Given the description of an element on the screen output the (x, y) to click on. 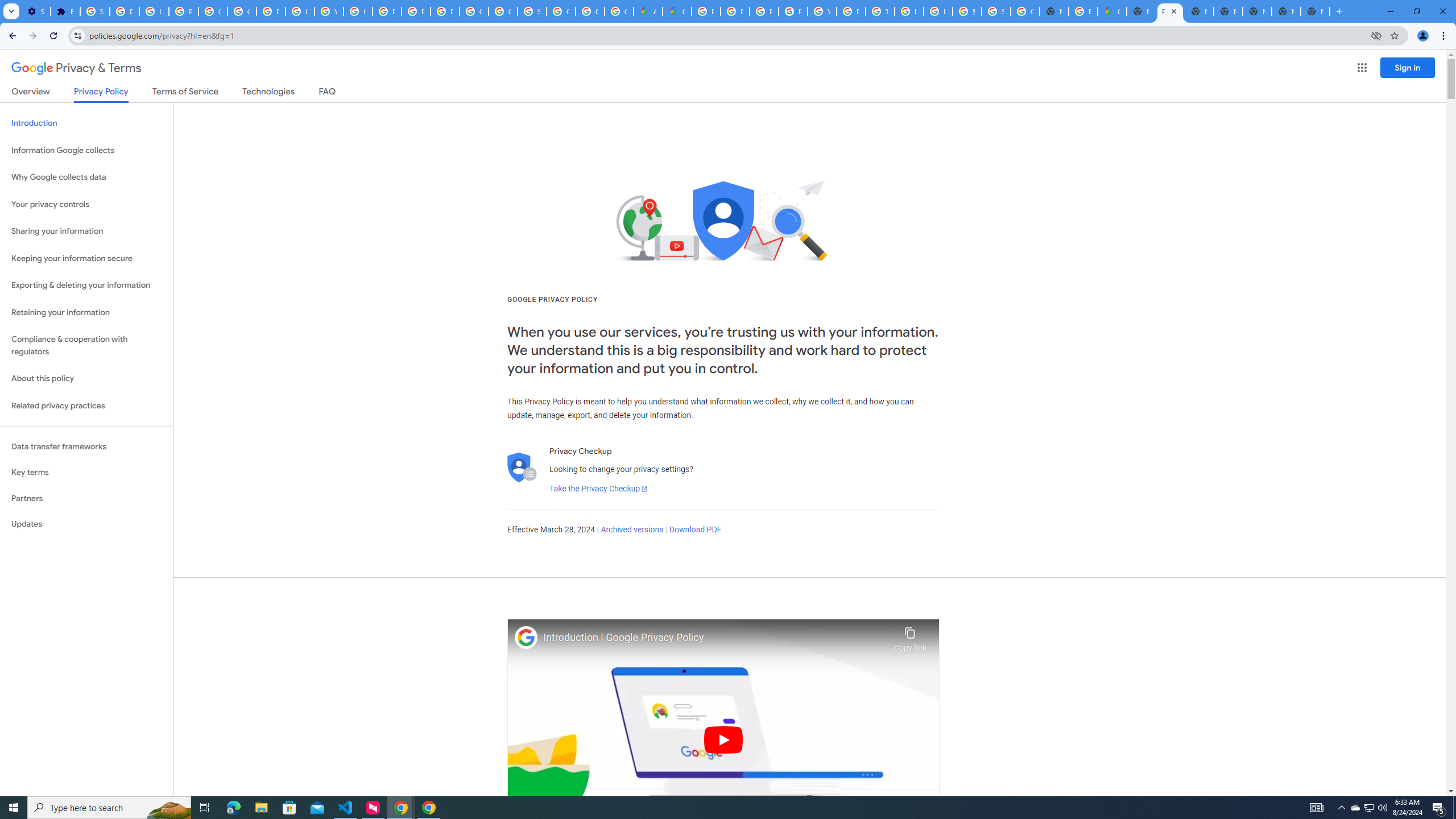
Create your Google Account (619, 11)
Technologies (268, 93)
Why Google collects data (86, 176)
Tips & tricks for Chrome - Google Chrome Help (879, 11)
Sign in - Google Accounts (531, 11)
About this policy (86, 379)
Learn how to find your photos - Google Photos Help (153, 11)
Privacy Policy (100, 94)
Policy Accountability and Transparency - Transparency Center (705, 11)
Partners (86, 497)
New Tab (1315, 11)
Play (723, 739)
